Given the description of an element on the screen output the (x, y) to click on. 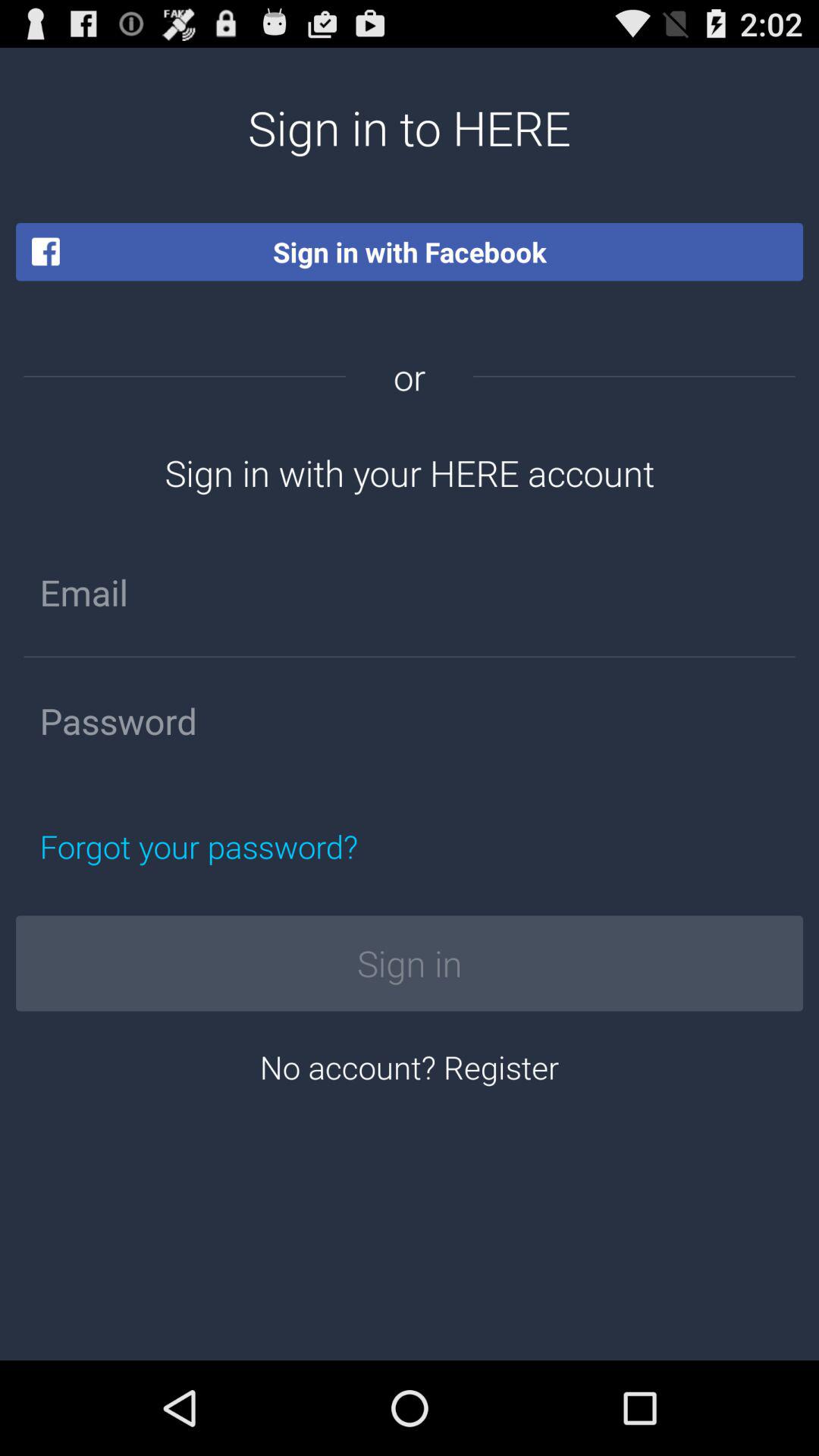
press the icon above sign in item (269, 845)
